Given the description of an element on the screen output the (x, y) to click on. 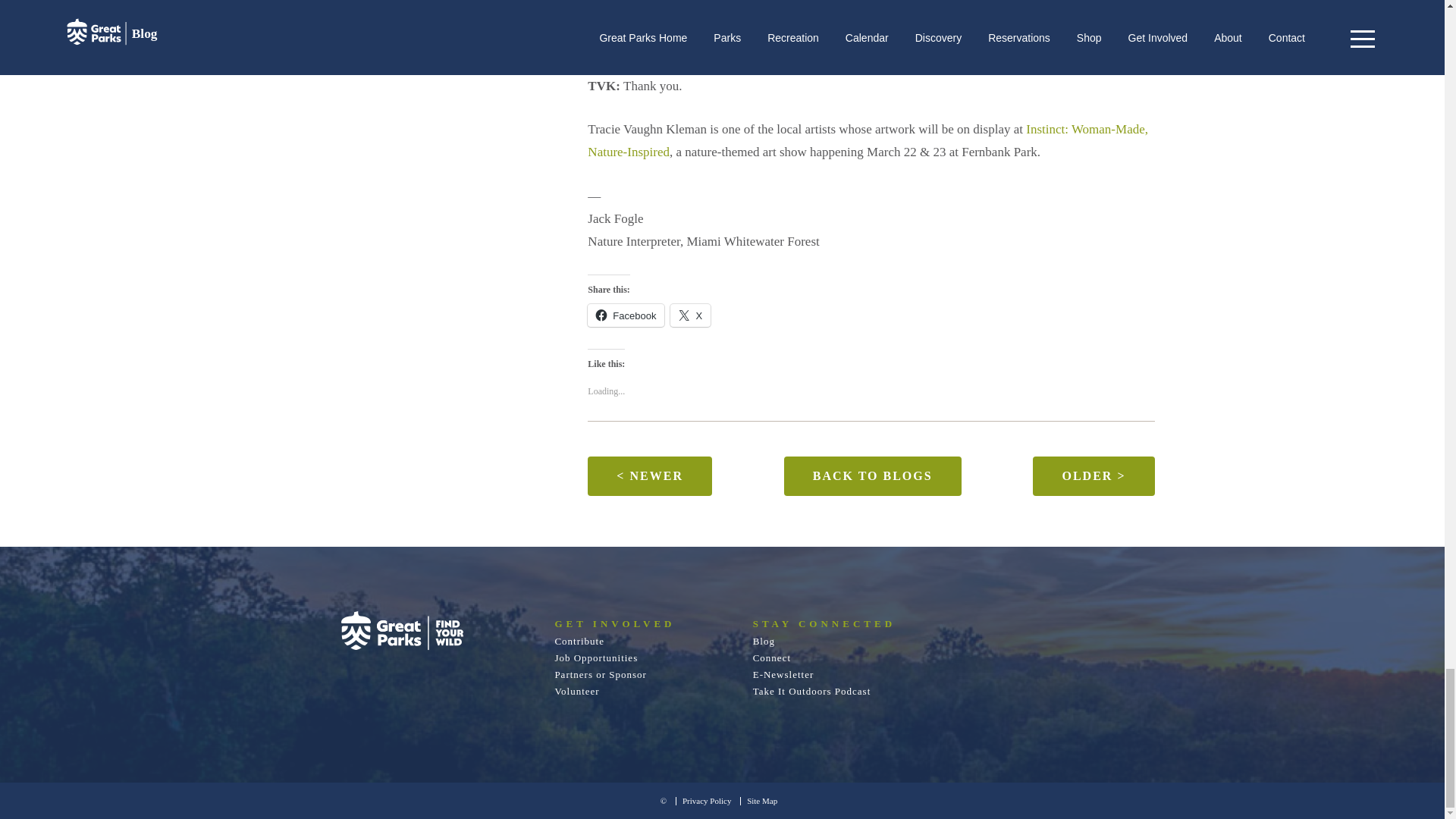
X (689, 314)
Click to share on X (689, 314)
BACK TO BLOGS (872, 476)
Click to share on Facebook (625, 314)
Instinct: Woman-Made, Nature-Inspired (868, 140)
Facebook (625, 314)
